Given the description of an element on the screen output the (x, y) to click on. 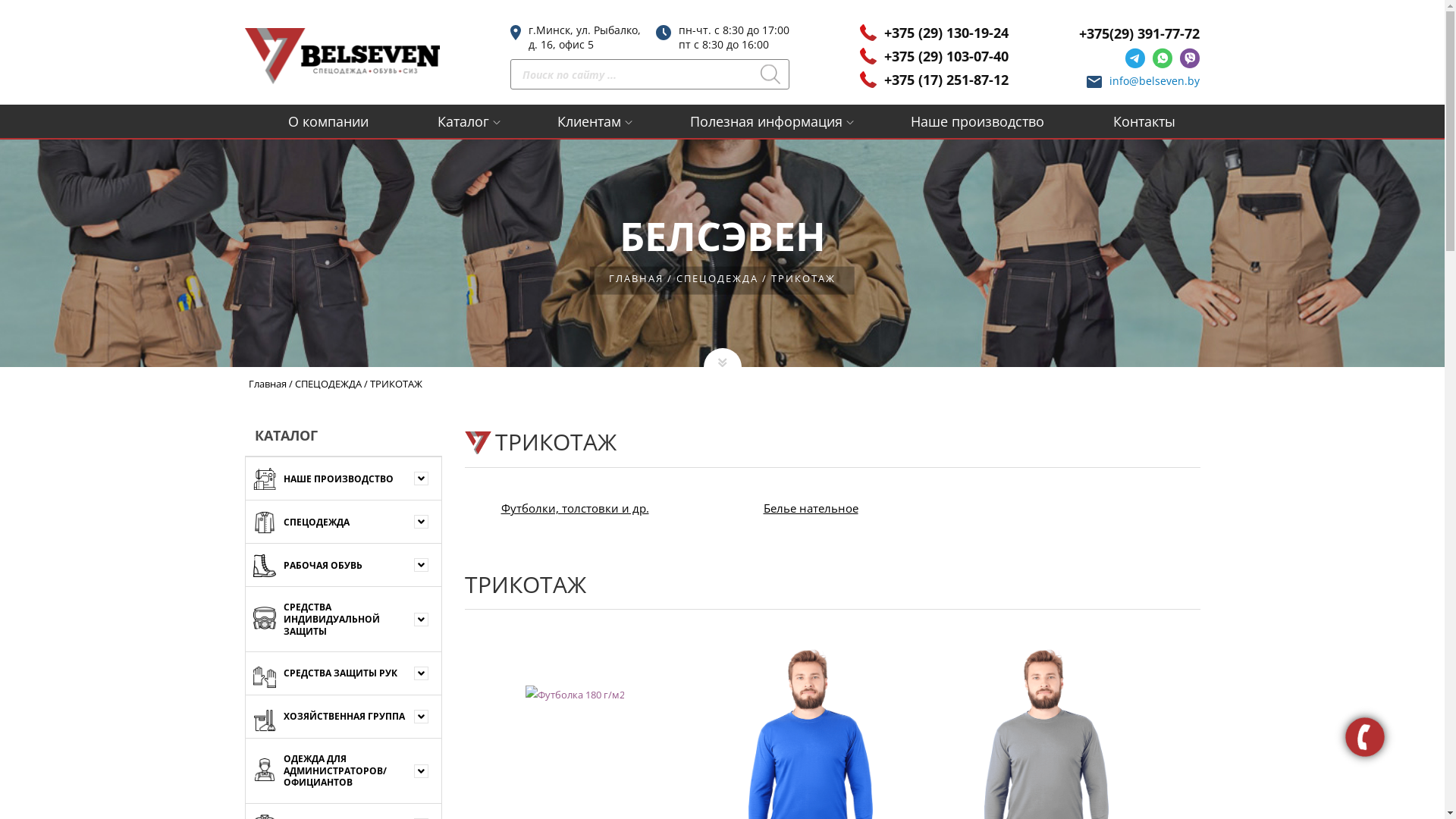
+375(29) 391-77-72 Element type: text (1139, 33)
+375 (17) 251-87-12 Element type: text (946, 79)
+375 (29) 130-19-24 Element type: text (946, 32)
info@belseven.by Element type: text (1154, 80)
+375 (29) 103-07-40 Element type: text (946, 56)
